Given the description of an element on the screen output the (x, y) to click on. 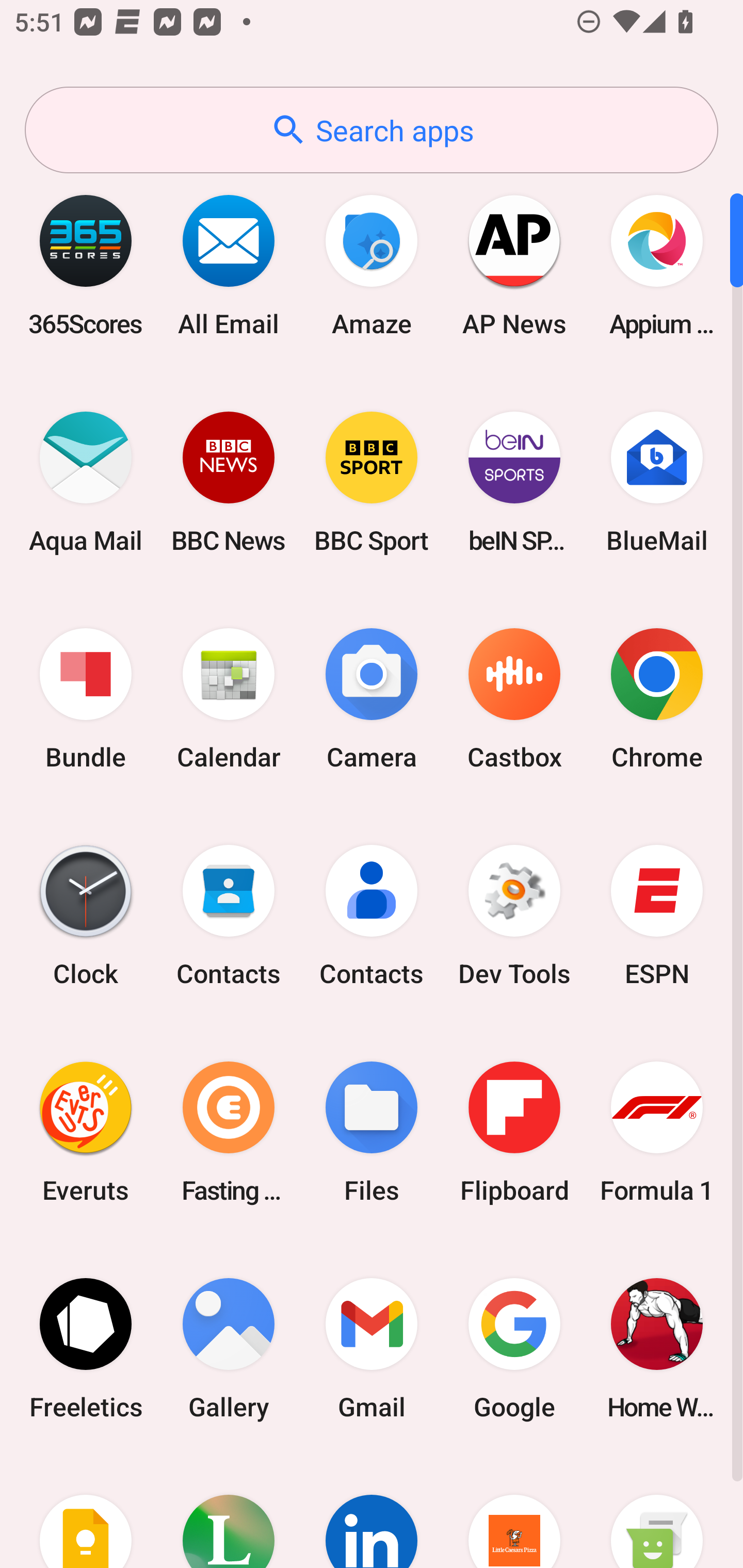
  Search apps (371, 130)
365Scores (85, 264)
All Email (228, 264)
Amaze (371, 264)
AP News (514, 264)
Appium Settings (656, 264)
Aqua Mail (85, 482)
BBC News (228, 482)
BBC Sport (371, 482)
beIN SPORTS (514, 482)
BlueMail (656, 482)
Bundle (85, 699)
Calendar (228, 699)
Camera (371, 699)
Castbox (514, 699)
Chrome (656, 699)
Clock (85, 915)
Contacts (228, 915)
Contacts (371, 915)
Dev Tools (514, 915)
ESPN (656, 915)
Everuts (85, 1131)
Fasting Coach (228, 1131)
Files (371, 1131)
Flipboard (514, 1131)
Formula 1 (656, 1131)
Freeletics (85, 1348)
Gallery (228, 1348)
Gmail (371, 1348)
Google (514, 1348)
Home Workout (656, 1348)
Keep Notes (85, 1512)
Lifesum (228, 1512)
LinkedIn (371, 1512)
Little Caesars Pizza (514, 1512)
Messaging (656, 1512)
